Given the description of an element on the screen output the (x, y) to click on. 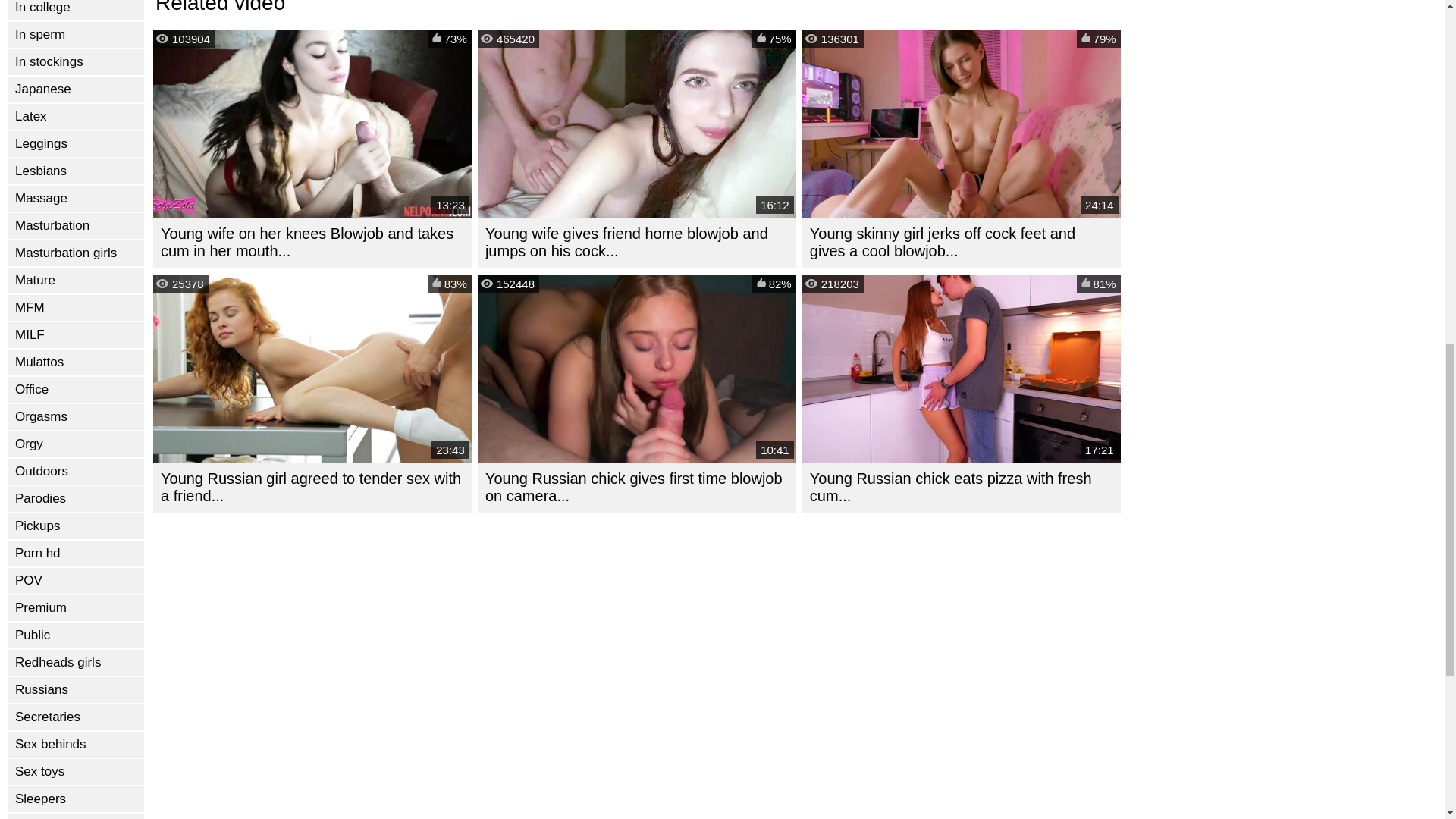
In college (75, 10)
In sperm (75, 34)
In stockings (75, 62)
Japanese (75, 89)
